Given the description of an element on the screen output the (x, y) to click on. 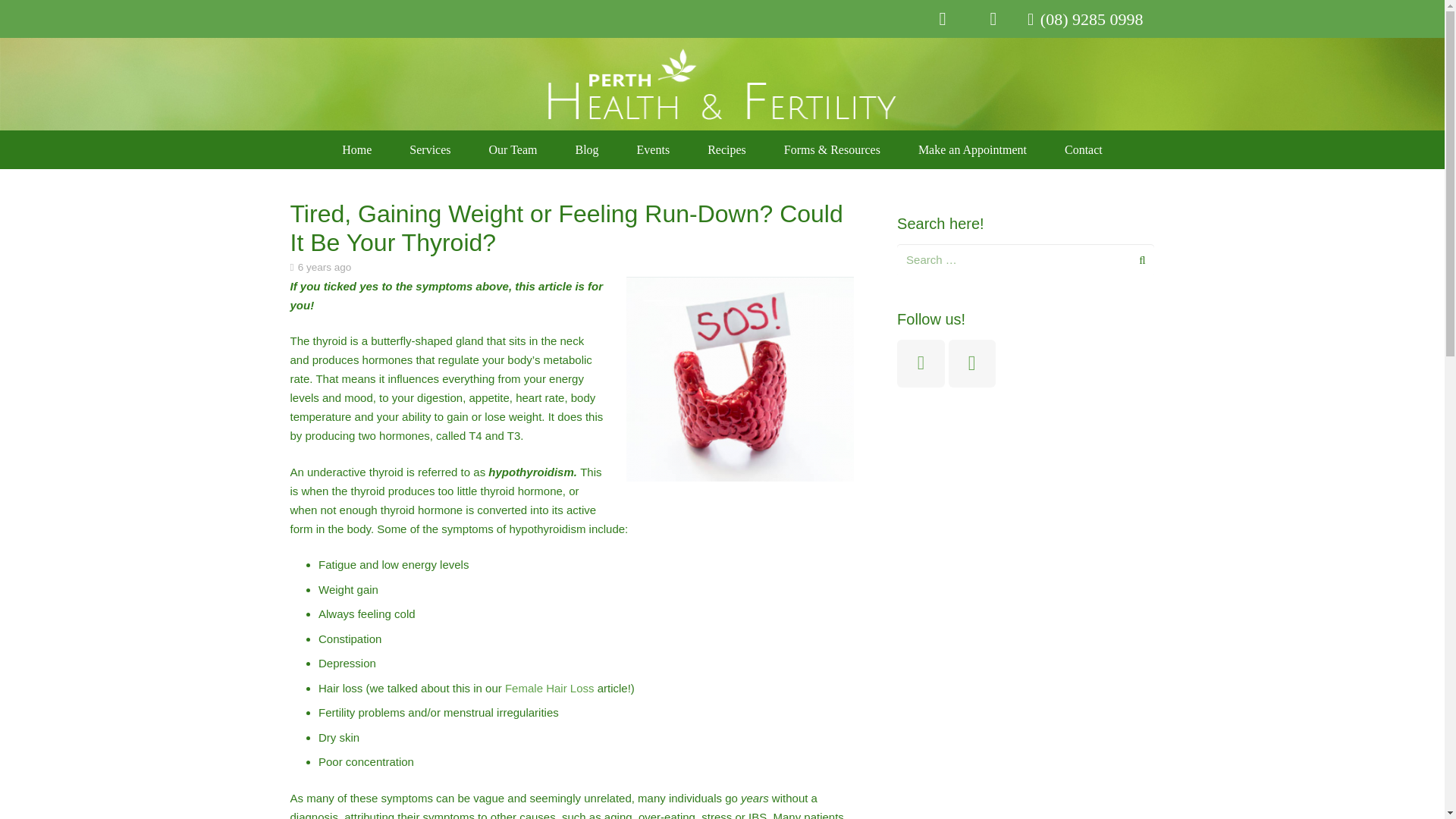
Facebook (993, 18)
Recipes (726, 149)
Blog (586, 149)
Make an Appointment (972, 149)
Facebook (920, 363)
Instagram (942, 19)
Female Hair Loss (549, 687)
Services (429, 149)
Home (356, 149)
Contact (1083, 149)
Search (1138, 260)
Our Team (513, 149)
Events (652, 149)
Instagram (972, 363)
